Given the description of an element on the screen output the (x, y) to click on. 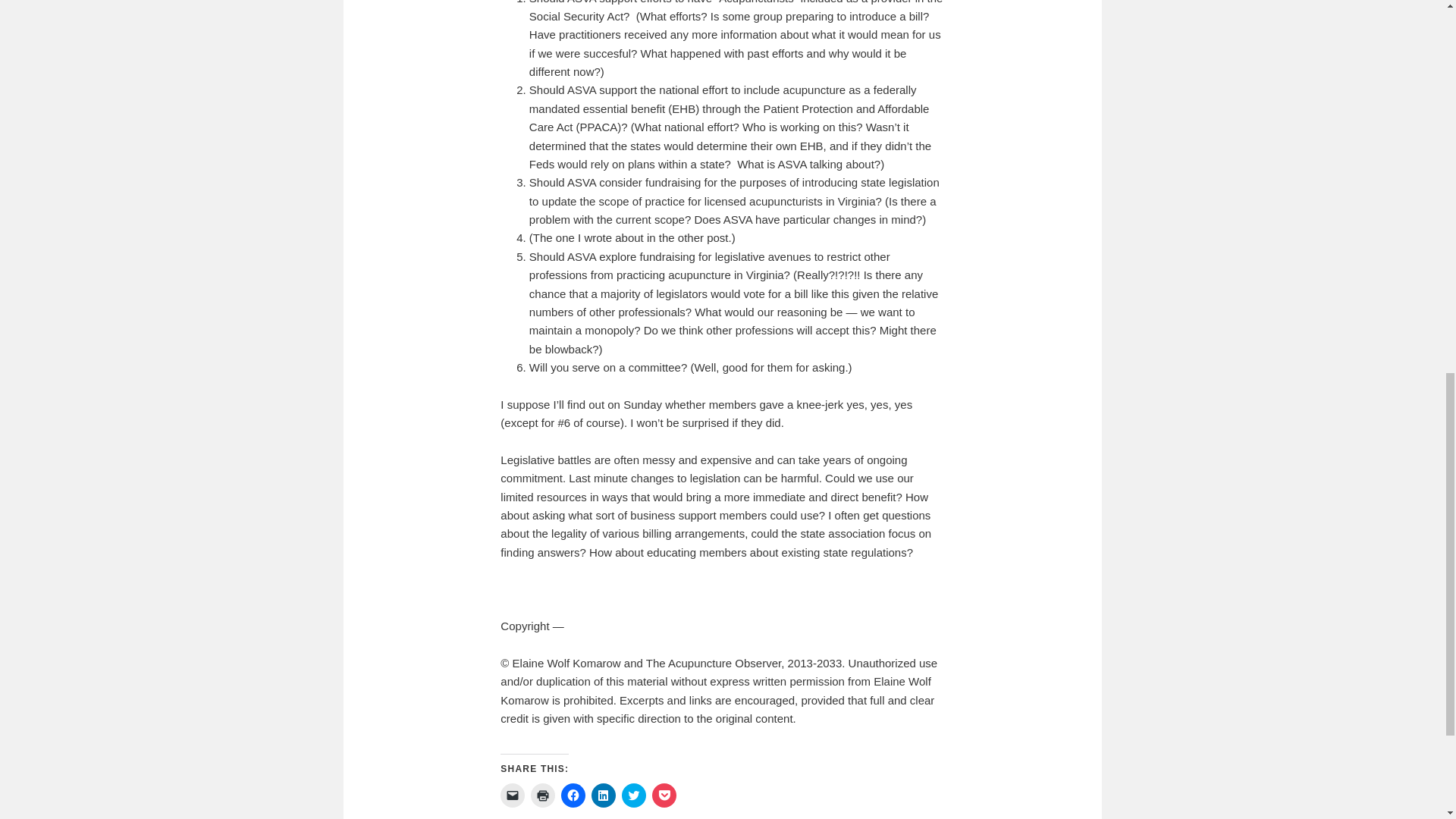
Click to share on Facebook (572, 794)
Click to share on LinkedIn (603, 794)
Click to share on Pocket (664, 794)
Click to share on Twitter (633, 794)
Click to email a link to a friend (512, 794)
Click to print (542, 794)
